Given the description of an element on the screen output the (x, y) to click on. 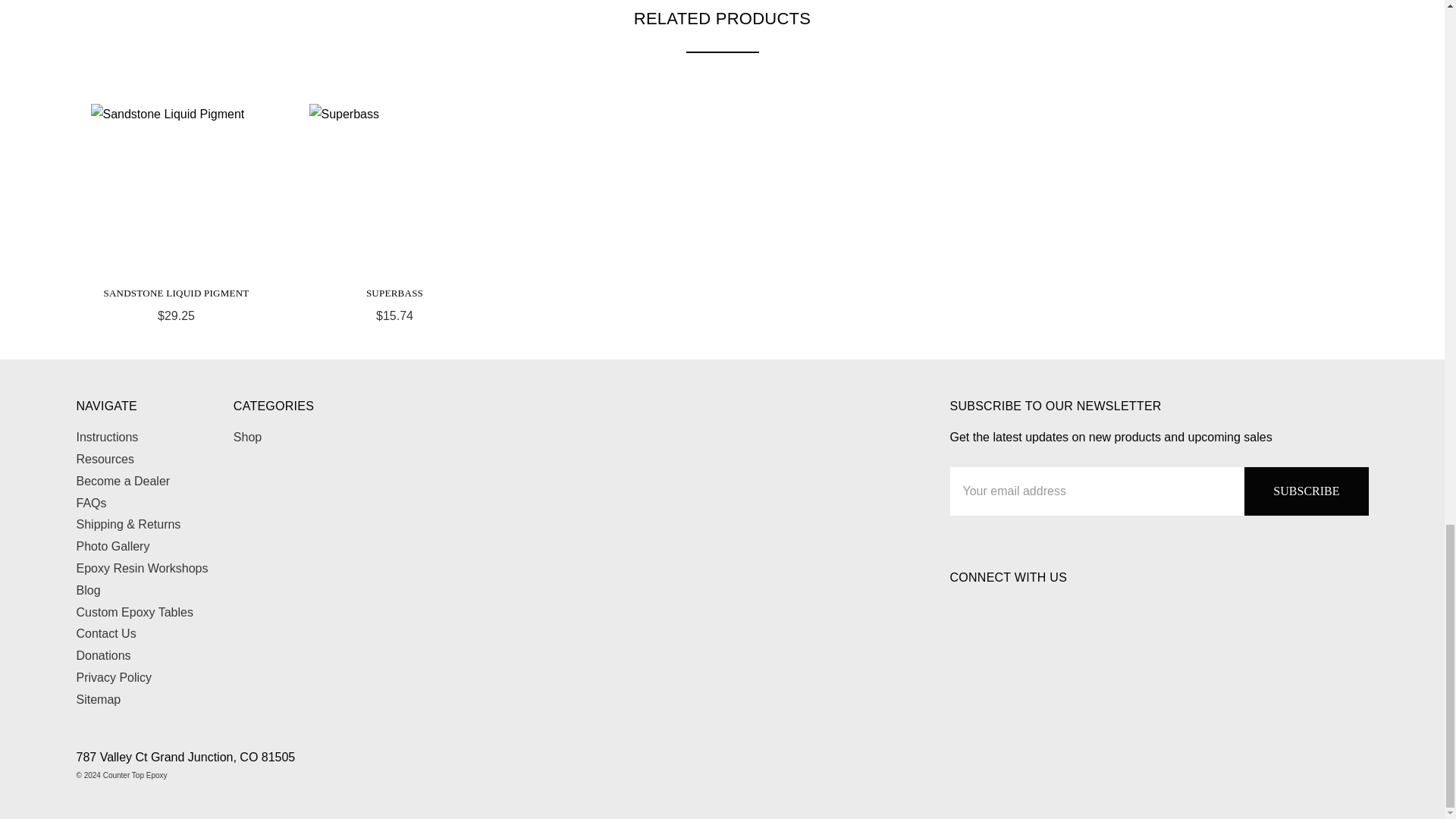
Sandstone Liquid Pigment (176, 189)
Subscribe (1306, 490)
Superbass (394, 189)
